Given the description of an element on the screen output the (x, y) to click on. 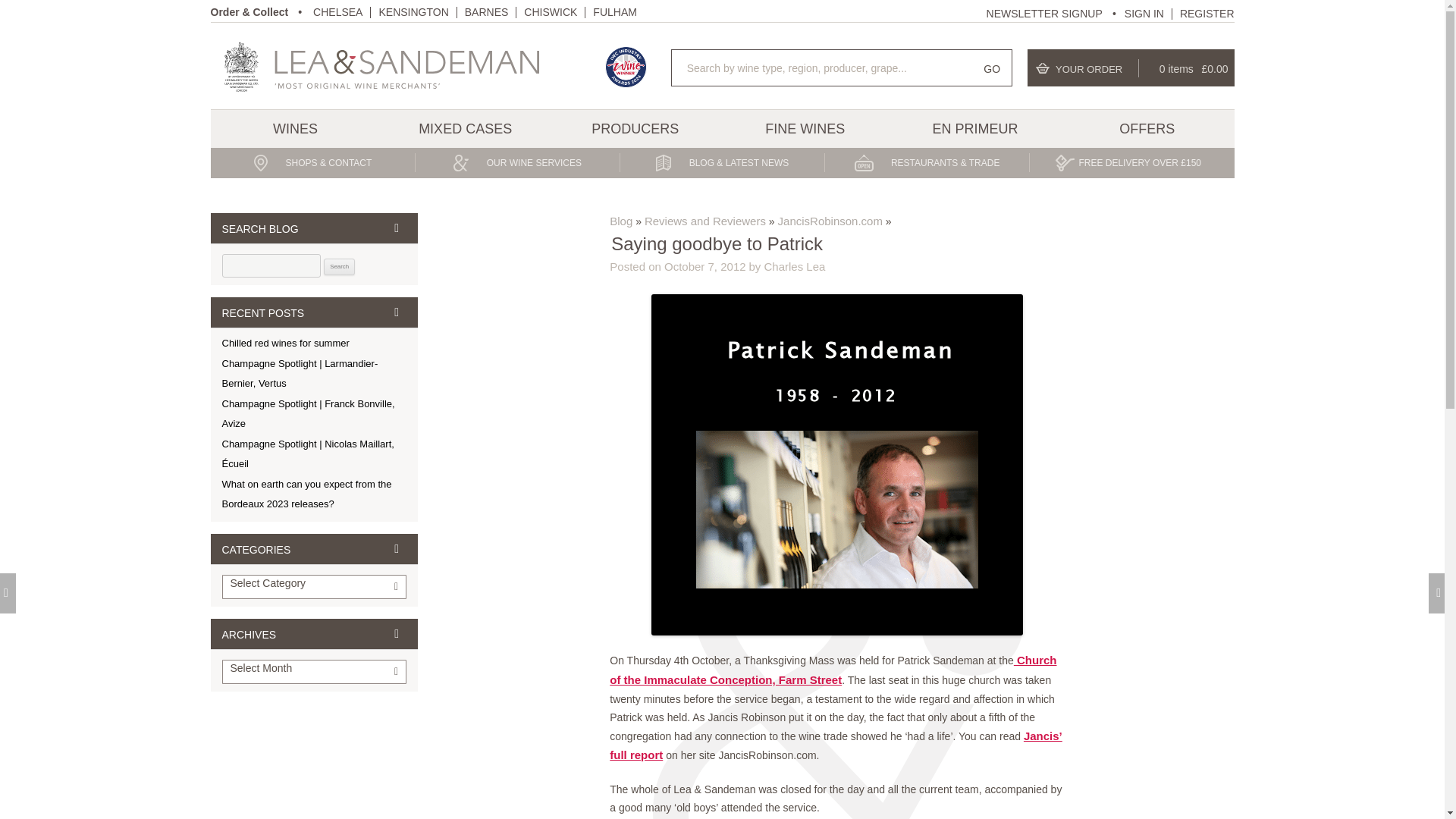
View basket dropdown (1130, 67)
NEWSLETTER SIGNUP (1054, 12)
FULHAM (614, 11)
Search (339, 266)
SIGN IN (1143, 13)
Patrick 1958-2012 (836, 464)
KENSINGTON (413, 11)
CHISWICK (550, 11)
Farm Street Yesterday (836, 745)
BARNES (486, 11)
CHELSEA (337, 11)
REGISTER (1206, 13)
Church of the Immaculate Conception, Farm Street (833, 669)
